Given the description of an element on the screen output the (x, y) to click on. 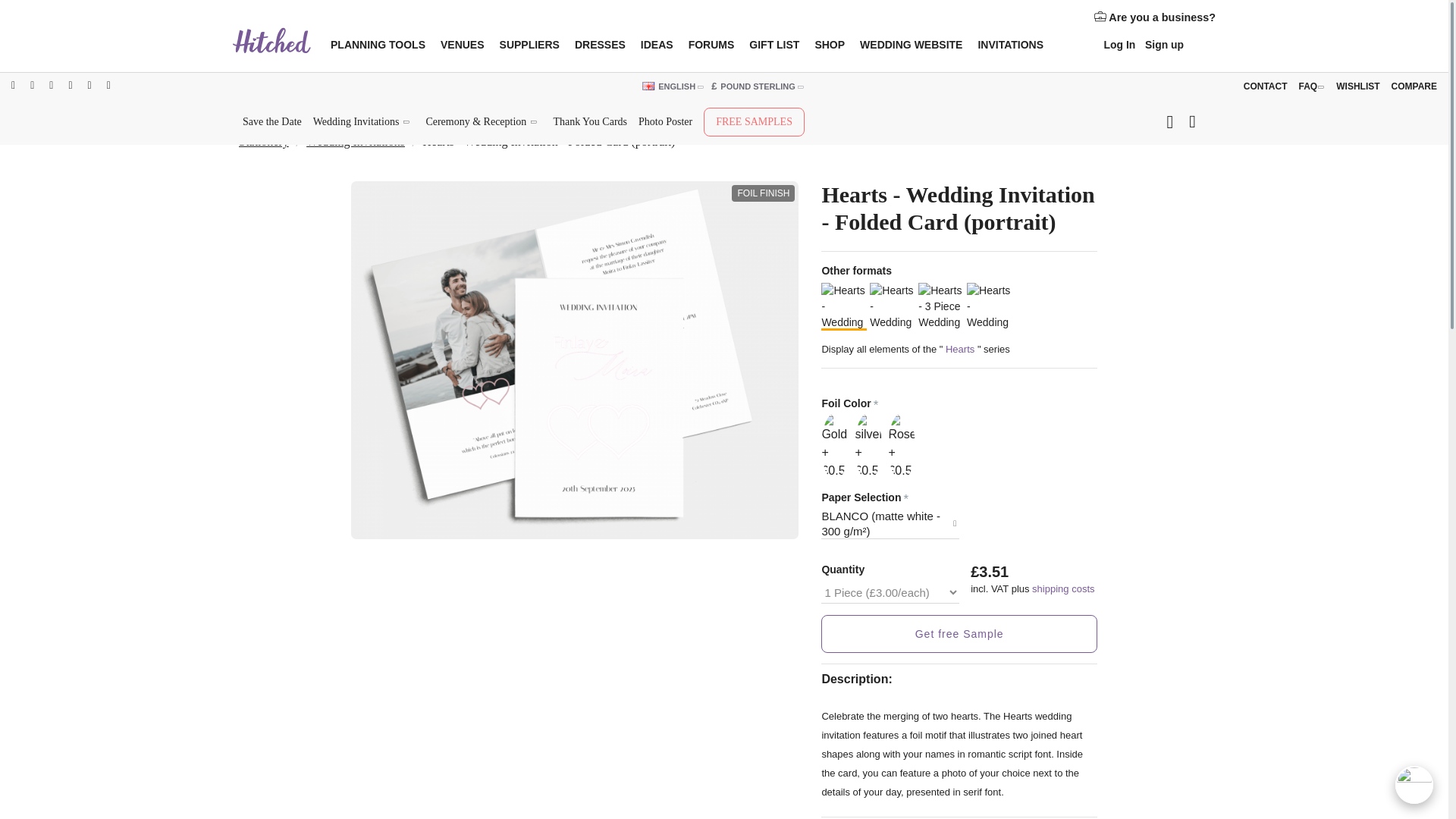
IDEAS (657, 45)
INVITATIONS (1010, 45)
FORUMS (711, 45)
Hearts - 3 Piece Wedding Invitation (940, 305)
SUPPLIERS (529, 45)
DRESSES (600, 45)
WEDDING WEBSITE (910, 45)
SHOP (828, 45)
Hearts - Wedding Invitation with Insert (892, 305)
PLANNING TOOLS (377, 45)
VENUES (462, 45)
English (647, 85)
GIFT LIST (773, 45)
